Given the description of an element on the screen output the (x, y) to click on. 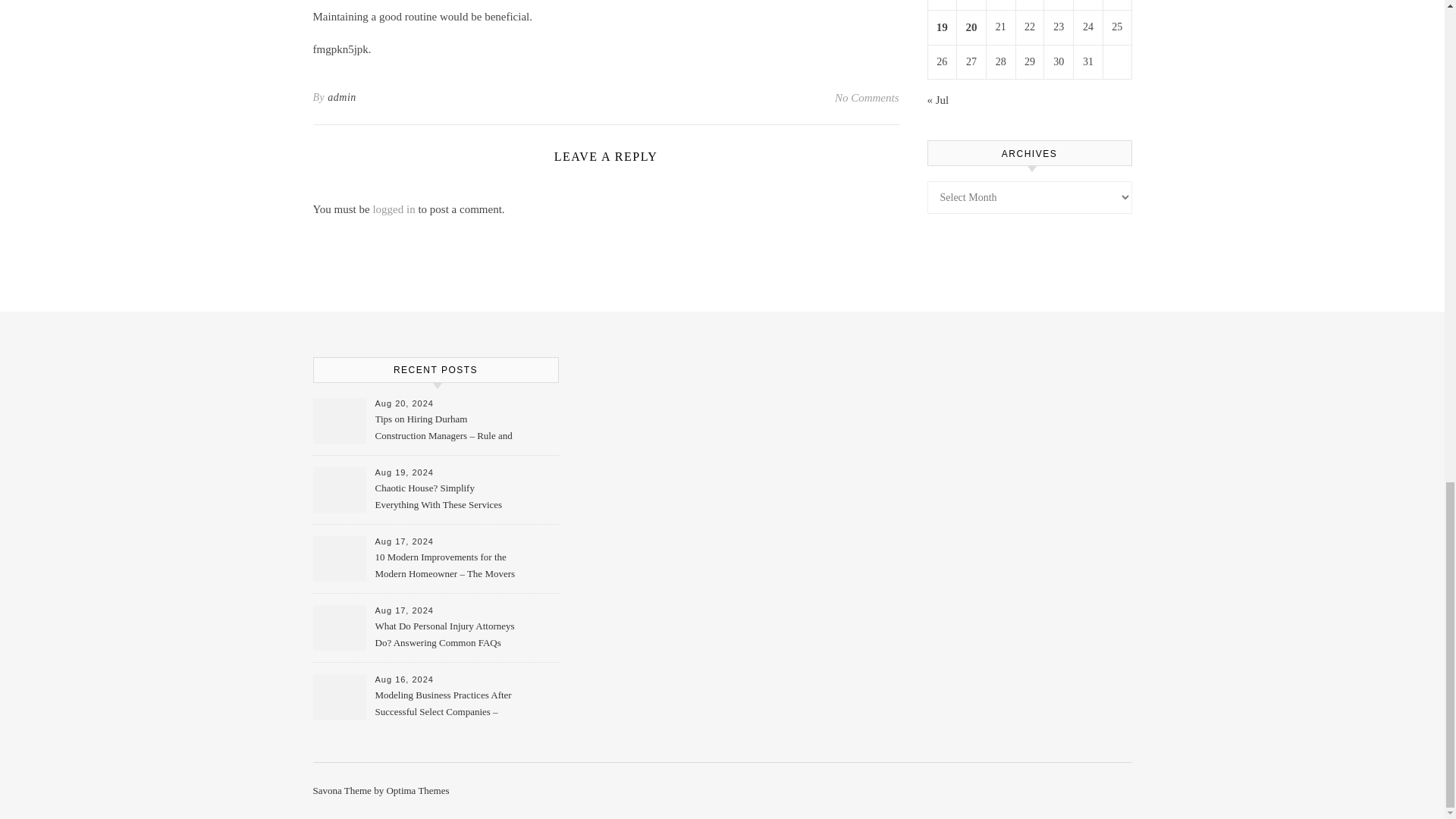
No Comments (866, 97)
13 (970, 1)
Posts by admin (341, 97)
16 (1058, 1)
What Do Personal Injury Attorneys Do? Answering Common FAQs (444, 635)
Optima Themes (416, 790)
logged in (393, 209)
Chaotic House? Simplify Everything With These Services (444, 497)
admin (341, 97)
